Given the description of an element on the screen output the (x, y) to click on. 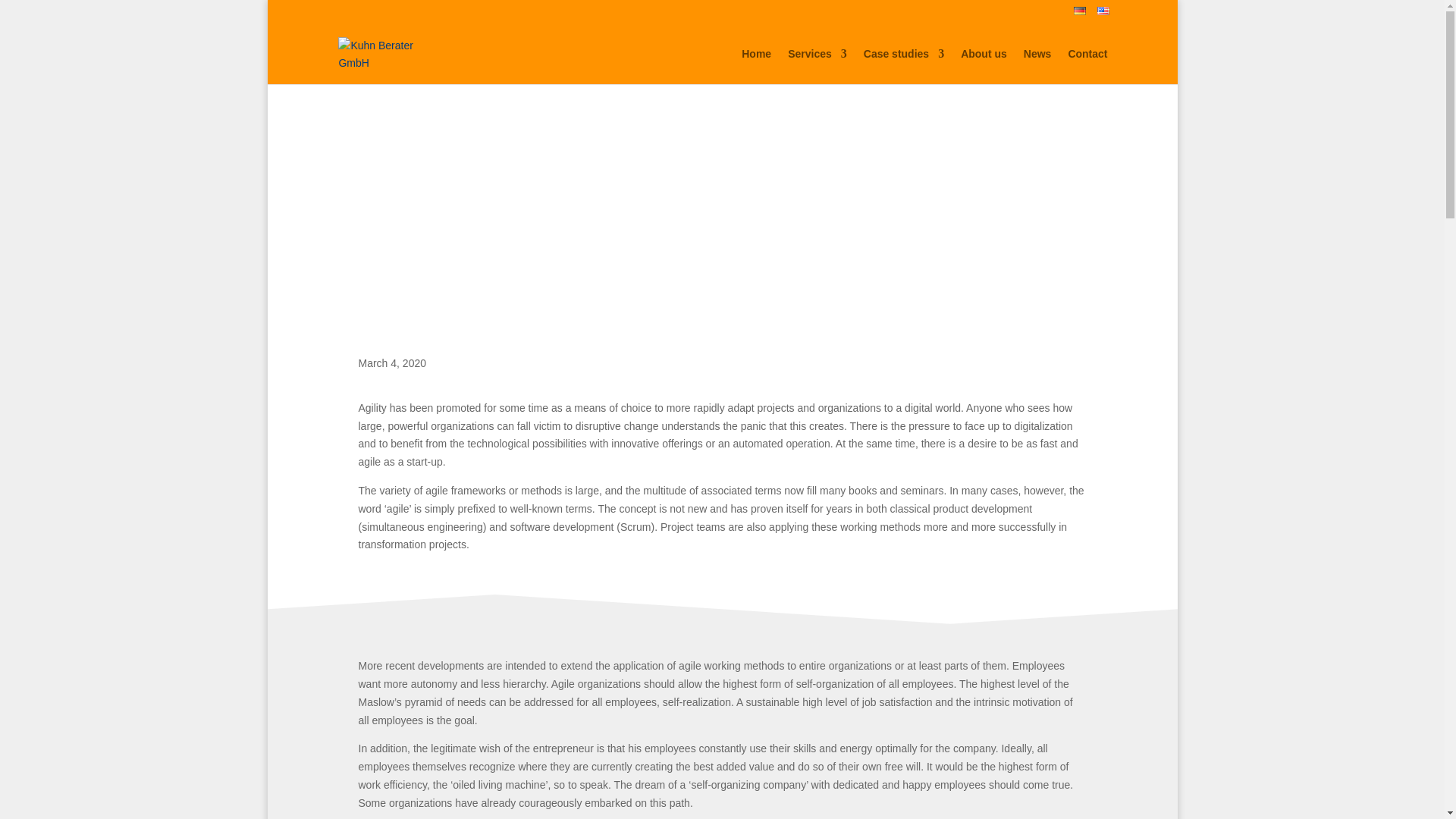
Contact (1086, 66)
Case studies (903, 66)
Services (817, 66)
About us (983, 66)
